Given the description of an element on the screen output the (x, y) to click on. 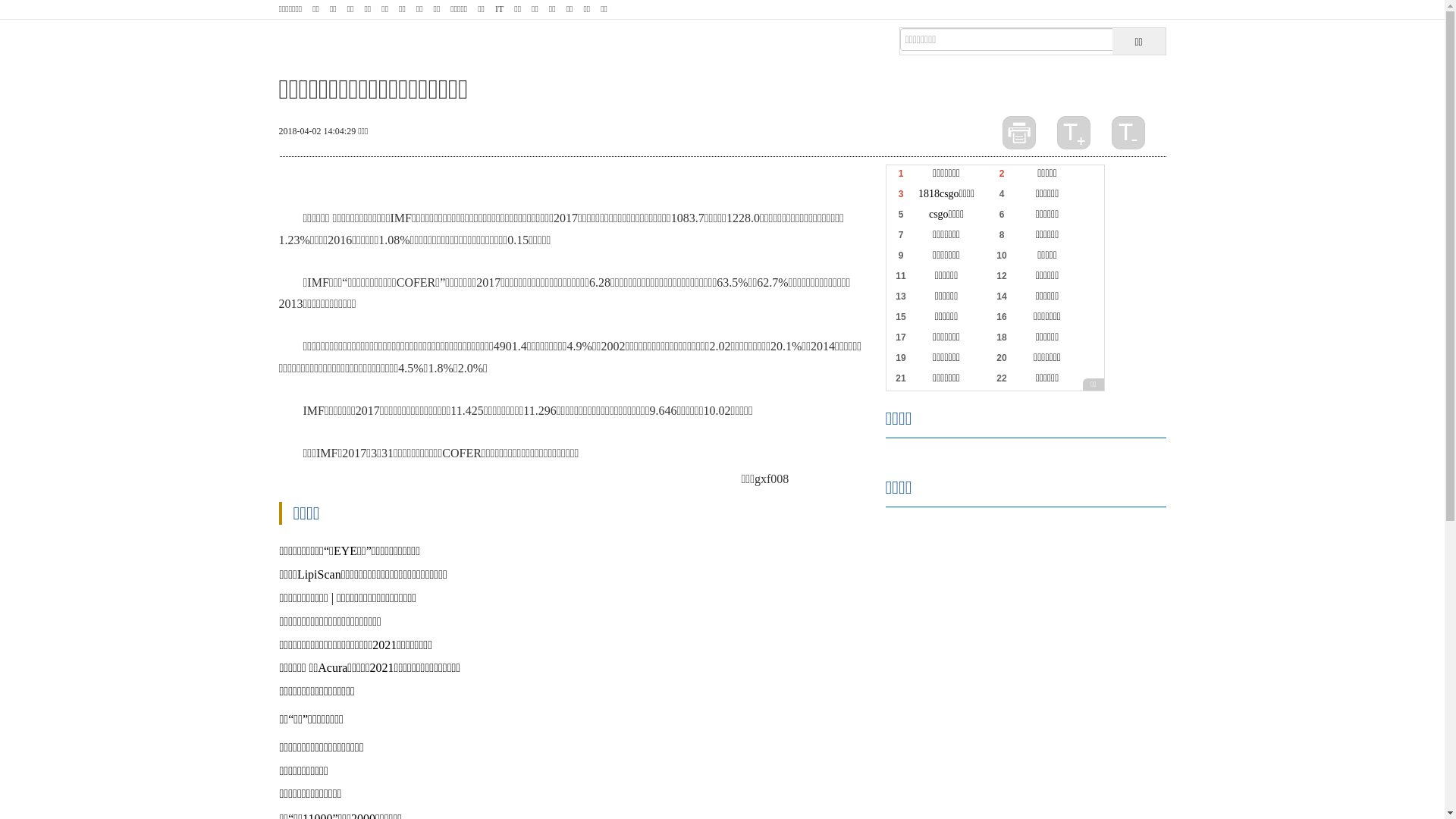
IT Element type: text (498, 9)
